Given the description of an element on the screen output the (x, y) to click on. 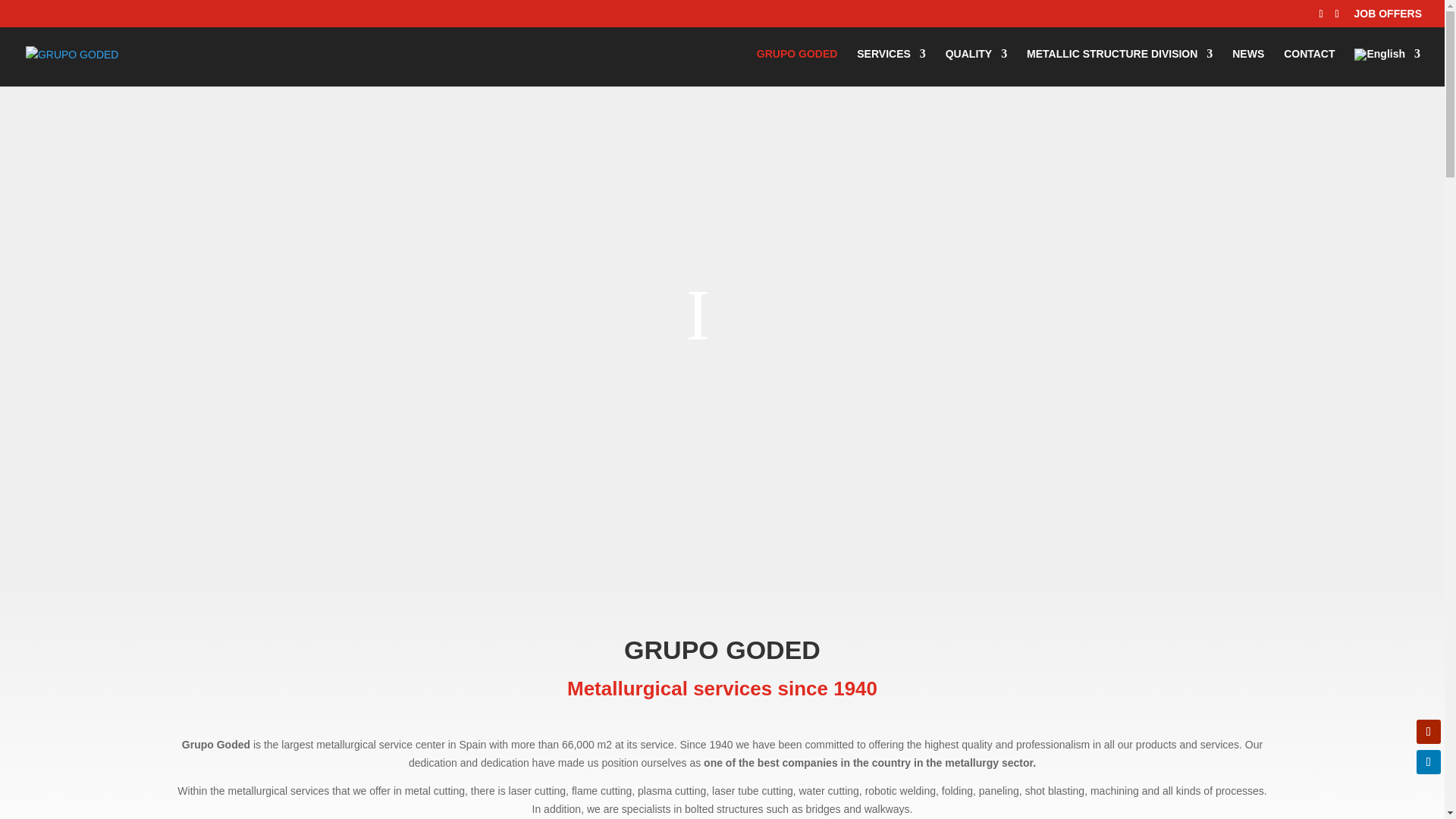
METALLIC STRUCTURE DIVISION (1119, 66)
SERVICES (891, 66)
Follow on Youtube (1428, 731)
Follow on LinkedIn (1428, 761)
QUALITY (975, 66)
GRUPO GODED (797, 66)
CONTACT (1309, 66)
JOB OFFERS (1388, 16)
